Given the description of an element on the screen output the (x, y) to click on. 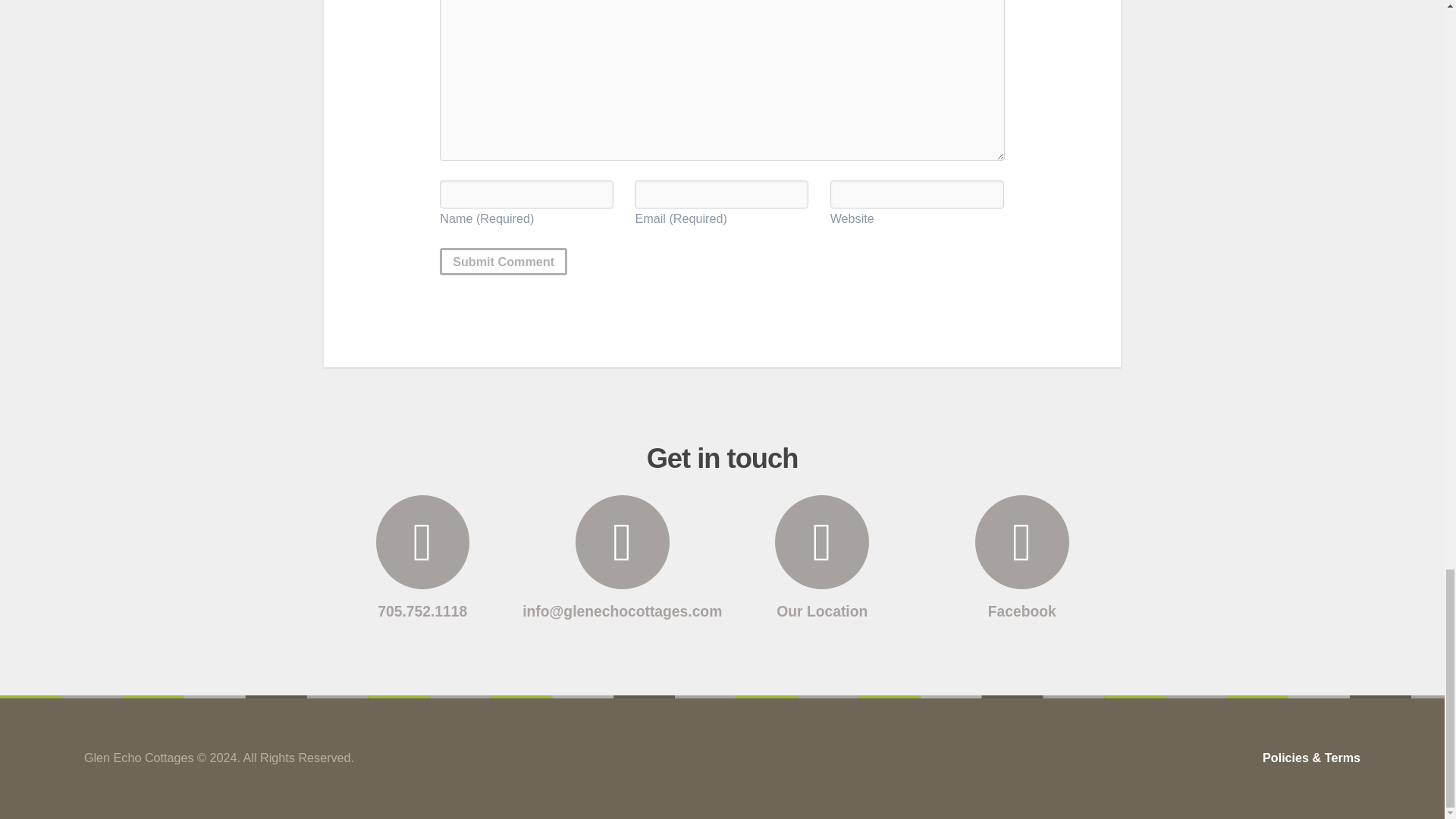
Facebook (1021, 557)
705.752.1118 (422, 557)
Our Location (821, 557)
Submit Comment (503, 261)
Submit Comment (503, 261)
